Given the description of an element on the screen output the (x, y) to click on. 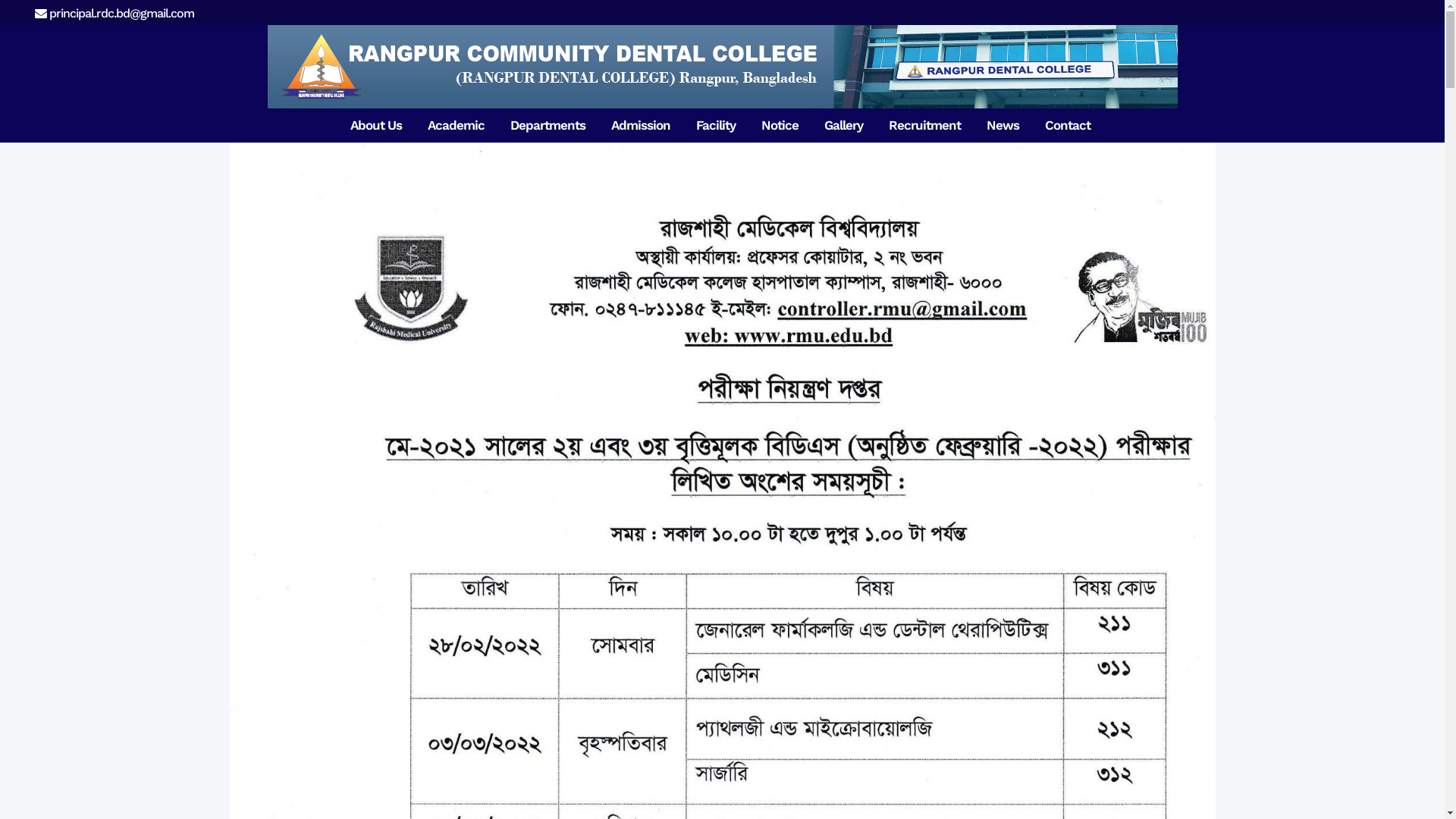
Departments Element type: text (547, 125)
principal.rdc.bd@gmail.com Element type: text (114, 13)
Facility Element type: text (715, 125)
About Us Element type: text (375, 125)
Recruitment Element type: text (924, 125)
Notice Element type: text (779, 125)
Academic Element type: text (455, 125)
Gallery Element type: text (843, 125)
News Element type: text (1002, 125)
Contact Element type: text (1067, 125)
Admission Element type: text (640, 125)
